Given the description of an element on the screen output the (x, y) to click on. 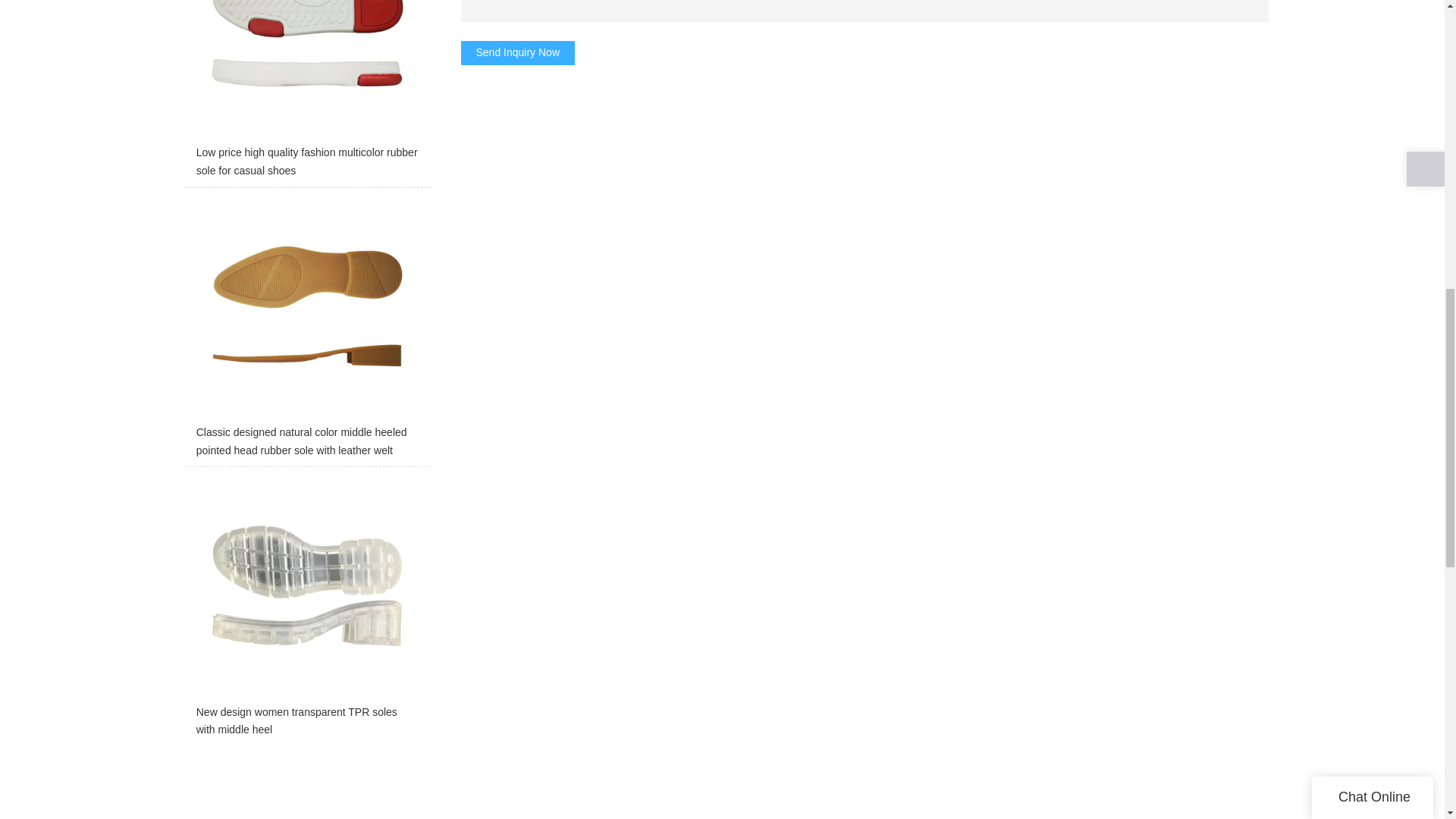
Send Inquiry Now (518, 52)
New design women transparent TPR soles with middle heel (306, 610)
